Given the description of an element on the screen output the (x, y) to click on. 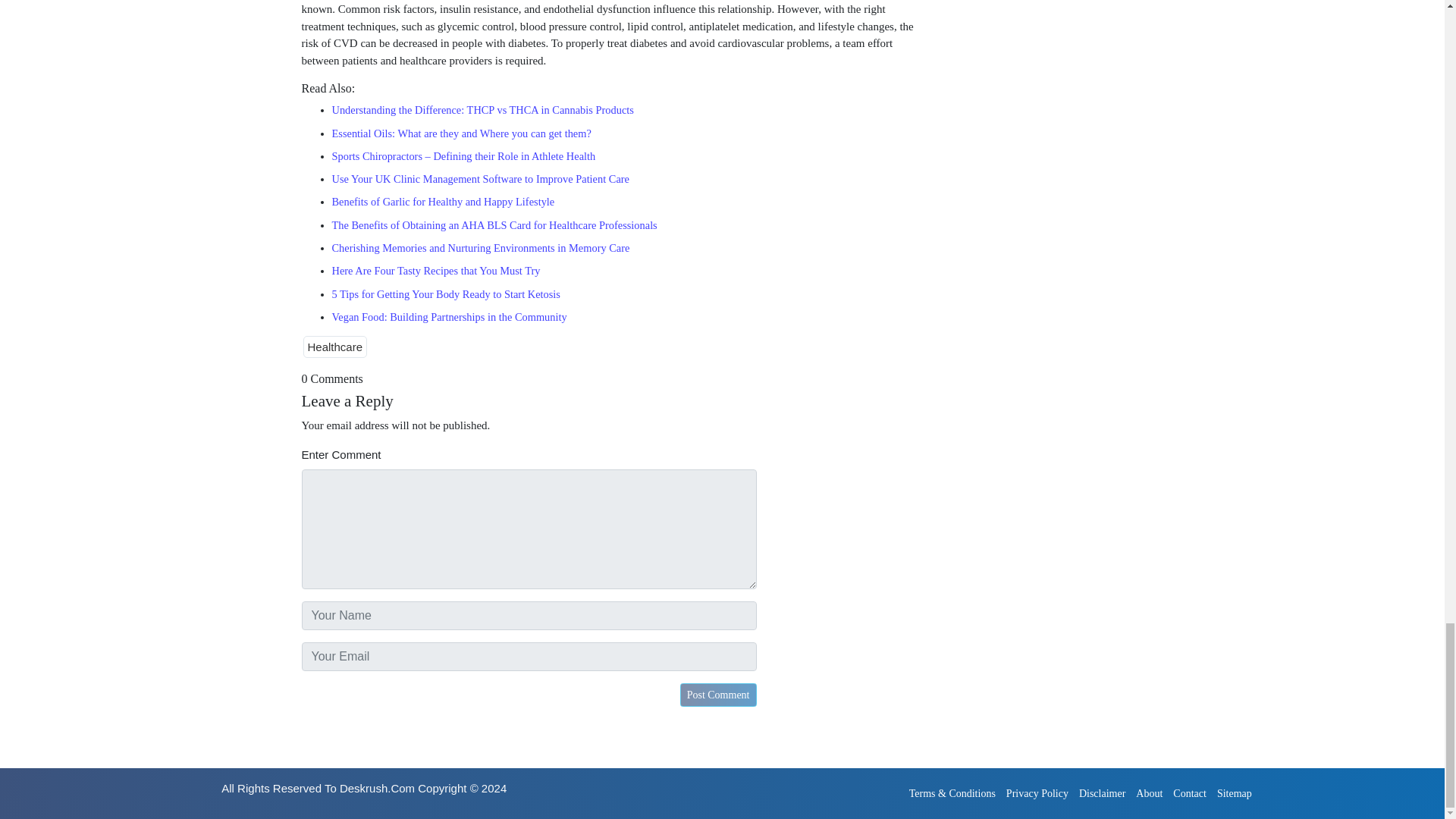
Post Comment (718, 694)
